Given the description of an element on the screen output the (x, y) to click on. 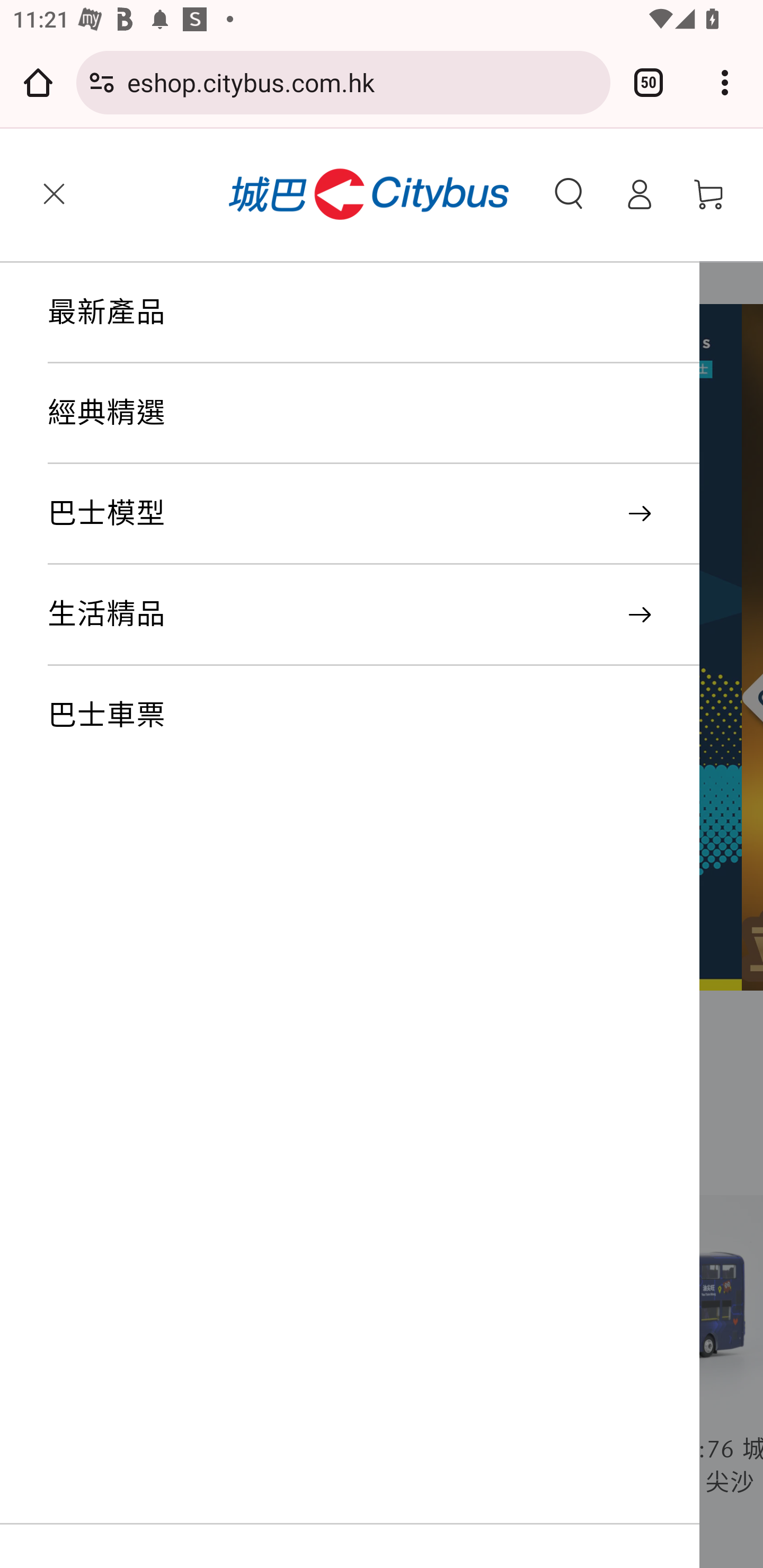
Open the home page (38, 82)
Connection is secure (101, 82)
Switch or close tabs (648, 82)
Customize and control Google Chrome (724, 82)
eshop.citybus.com.hk (362, 82)
菜單 (54, 194)
搜索我們的網站 (569, 194)
登錄 (638, 194)
購物車 (708, 194)
最新產品 (373, 312)
經典精選 (373, 413)
巴士模型 (373, 515)
生活精品 (373, 615)
巴士車票 (373, 715)
